Given the description of an element on the screen output the (x, y) to click on. 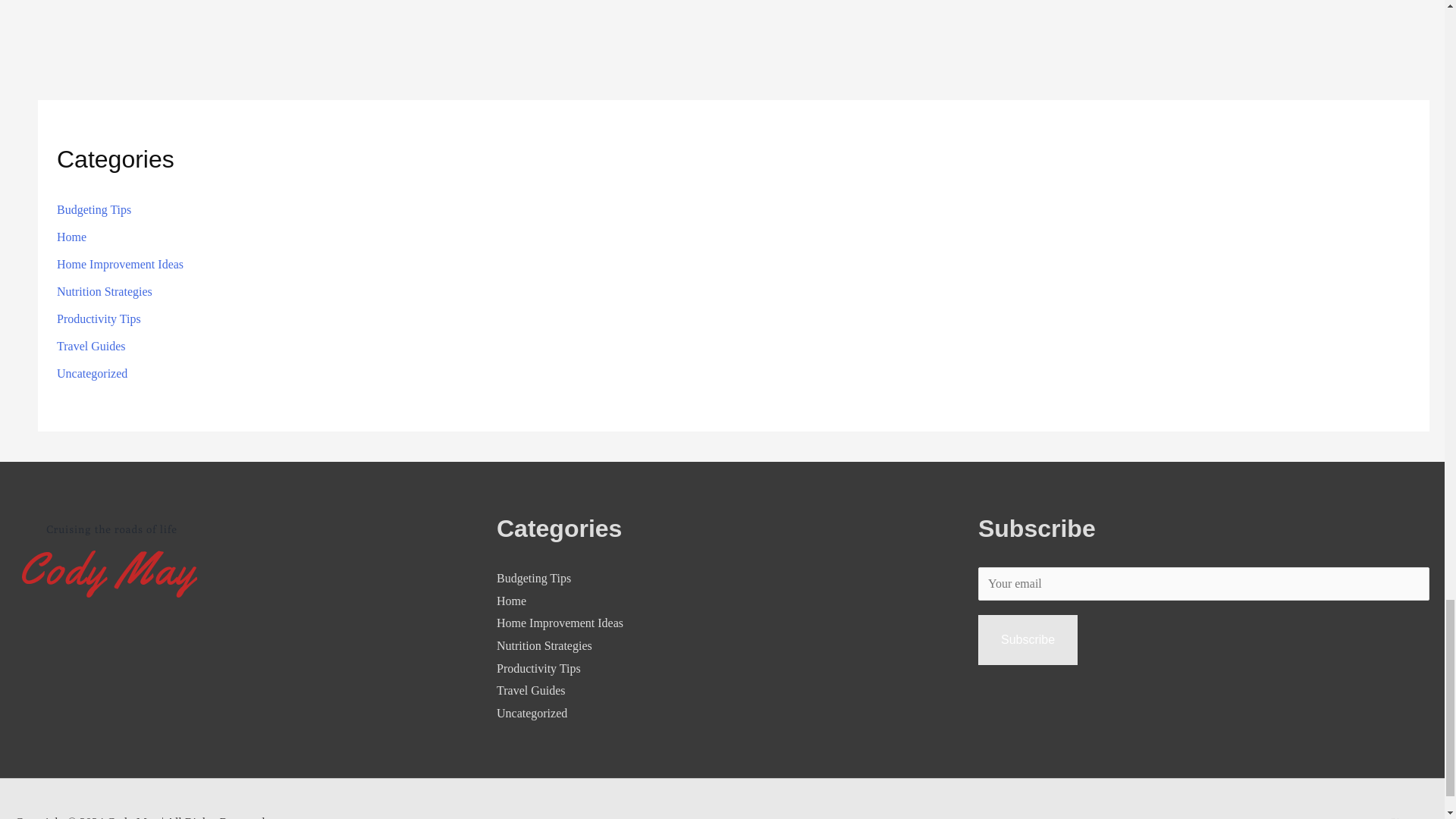
Subscribe (1027, 640)
Kids and Sports: Why Get Children Interested in Sports? (1396, 0)
Productivity Tips (538, 667)
Home (510, 600)
Home Improvement Ideas (559, 622)
Uncategorized (92, 373)
Nutrition Strategies (104, 291)
Uncategorized (531, 712)
Productivity Tips (98, 318)
